Given the description of an element on the screen output the (x, y) to click on. 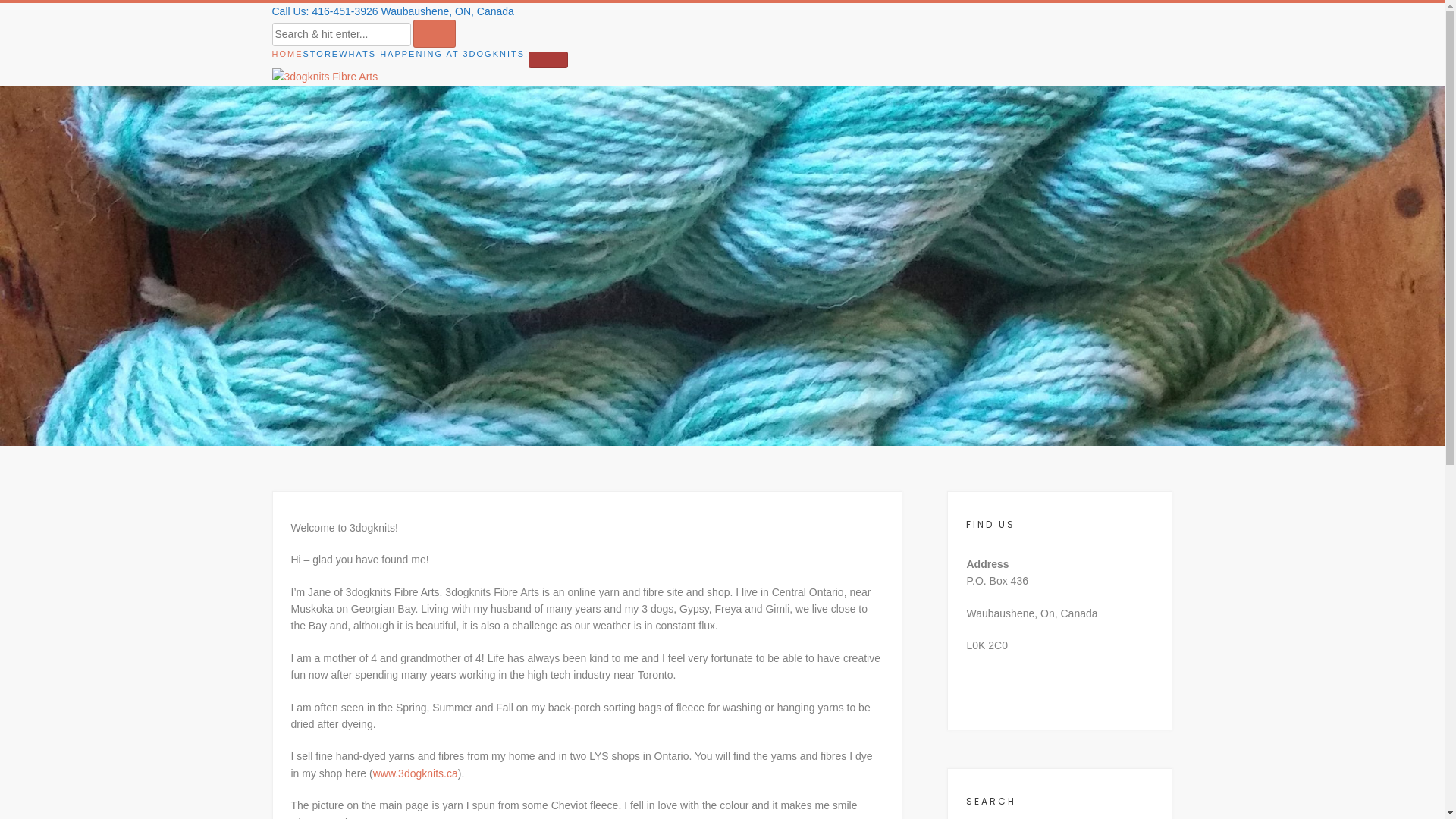
HOME Element type: text (286, 54)
STORE Element type: text (321, 54)
www.3dogknits.ca Element type: text (415, 773)
WHATS HAPPENING AT 3DOGKNITS! Element type: text (433, 54)
